Given the description of an element on the screen output the (x, y) to click on. 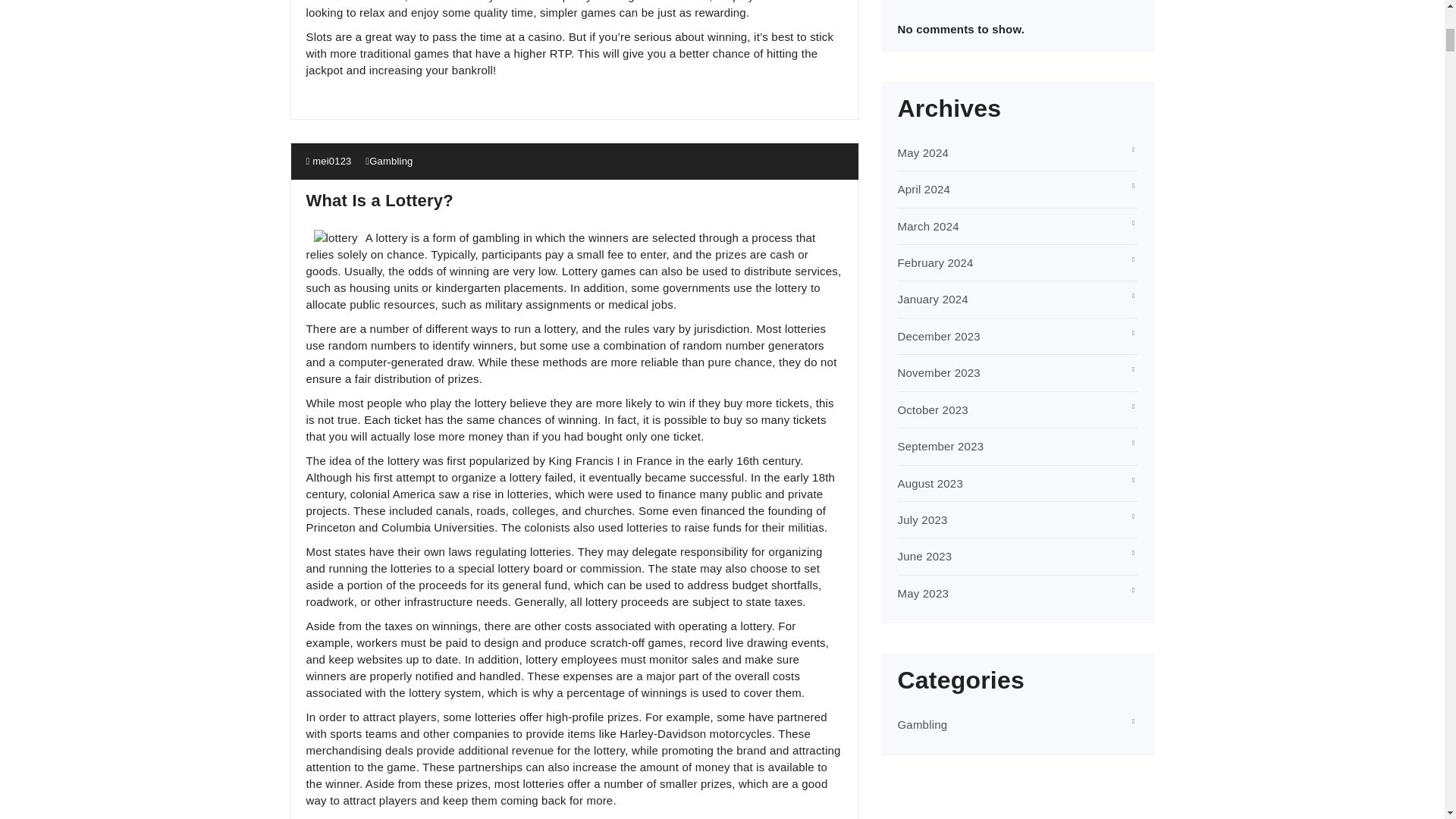
What Is a Lottery? (378, 199)
mei0123 (328, 161)
Gambling (390, 161)
